Given the description of an element on the screen output the (x, y) to click on. 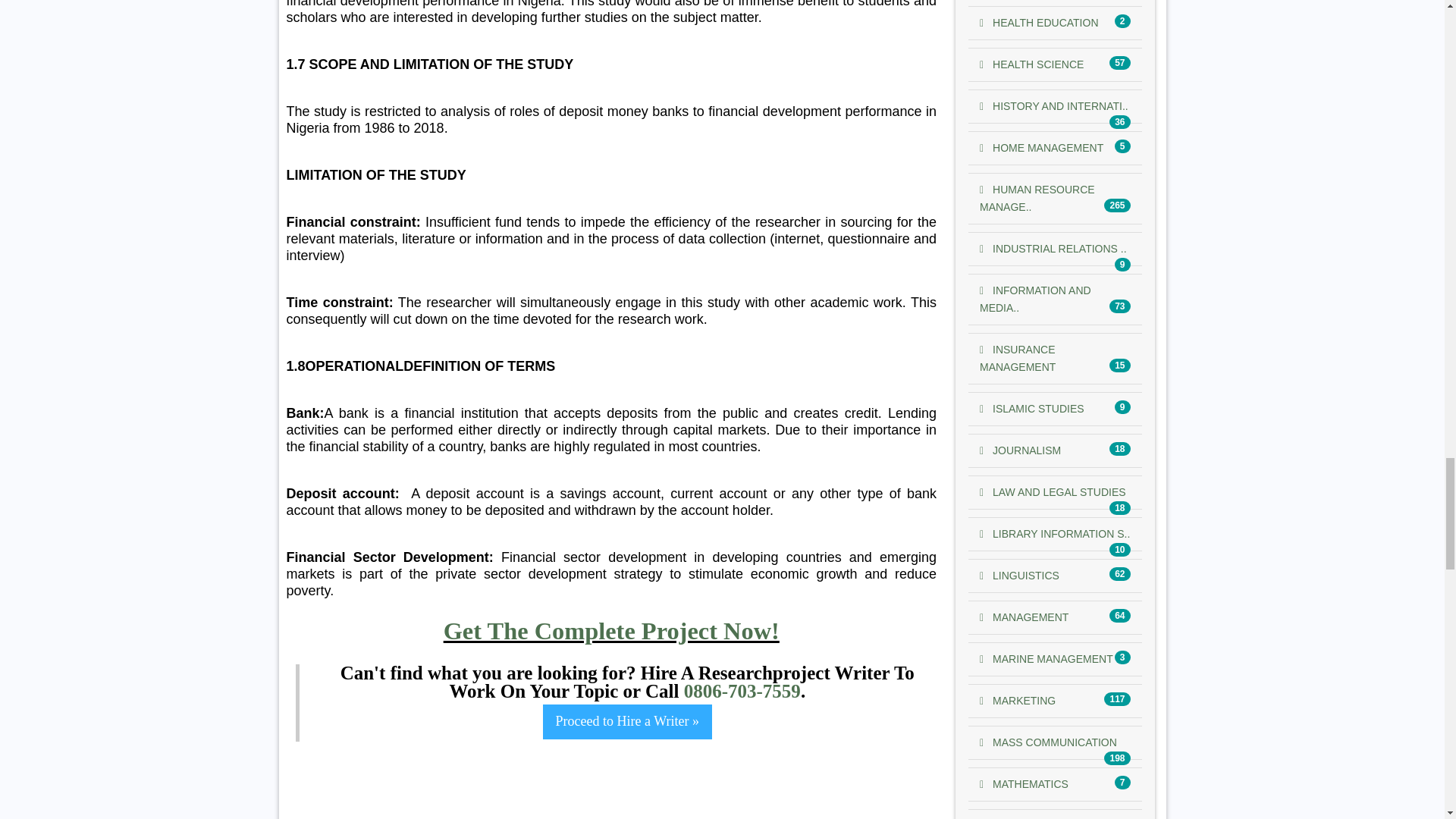
Get The Complete Project Now! (611, 630)
0806-703-7559 (742, 690)
